Given the description of an element on the screen output the (x, y) to click on. 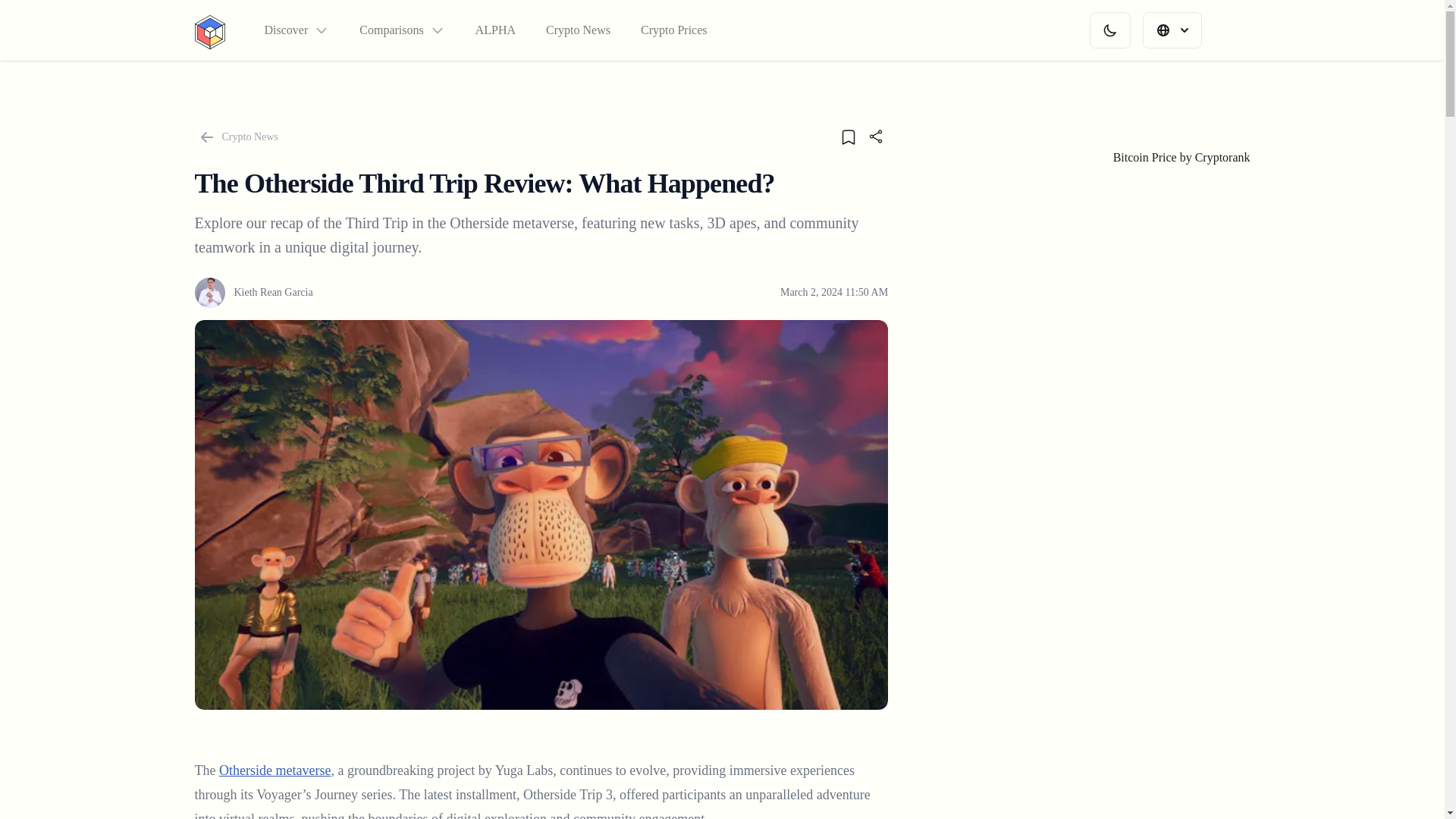
ALPHA (495, 30)
Comparisons (401, 30)
Bitcoin Price by Cryptorank (1181, 156)
Kieth Rean Garcia (253, 292)
Crypto Prices (673, 30)
Save (847, 137)
Crypto News (235, 137)
Discover (296, 30)
Crypto News (578, 30)
CryptoTicker (208, 29)
Otherside metaverse (274, 770)
Switch to Dark Theme (1109, 30)
